Given the description of an element on the screen output the (x, y) to click on. 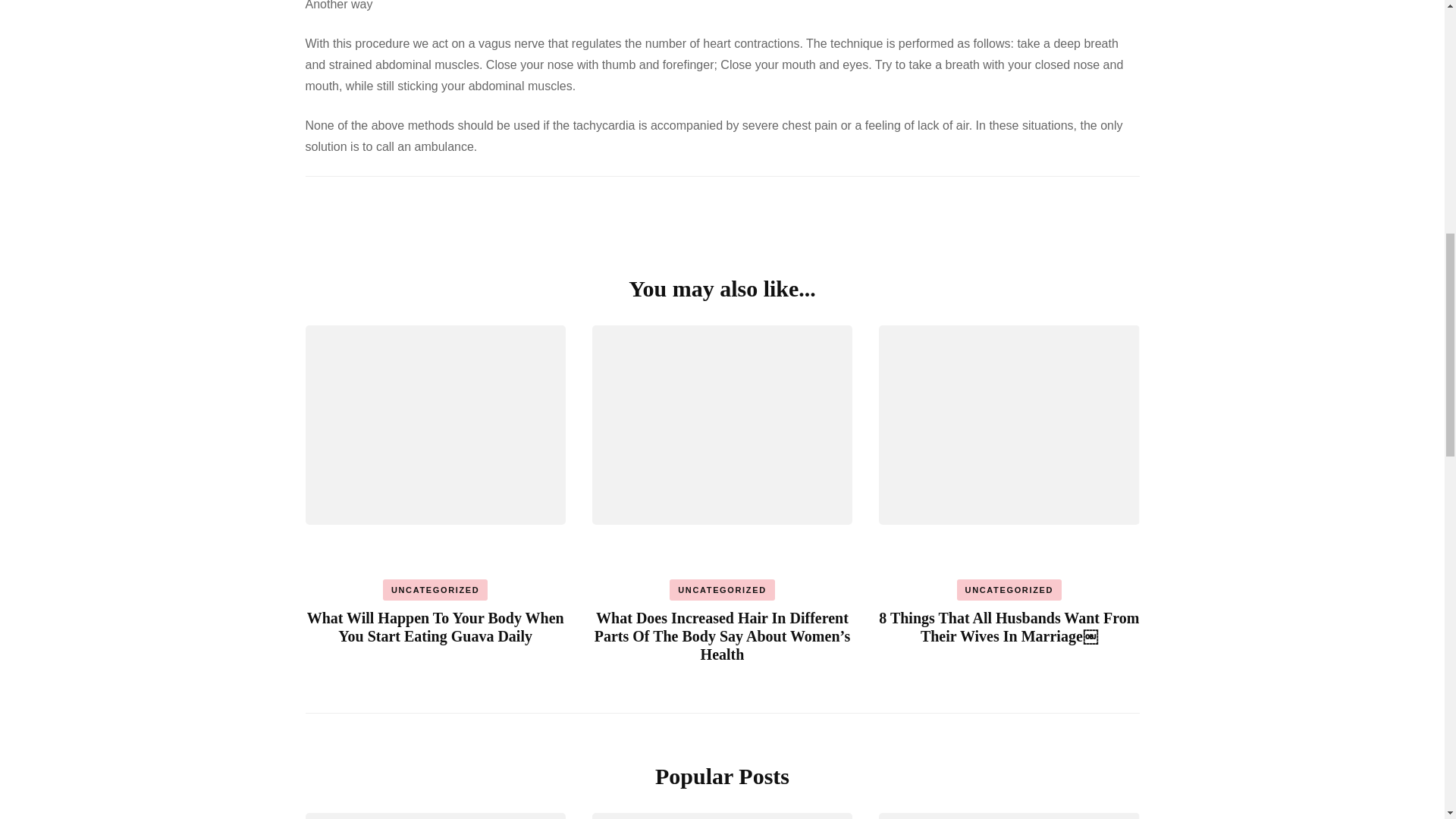
UNCATEGORIZED (721, 589)
UNCATEGORIZED (1009, 589)
UNCATEGORIZED (434, 589)
